Given the description of an element on the screen output the (x, y) to click on. 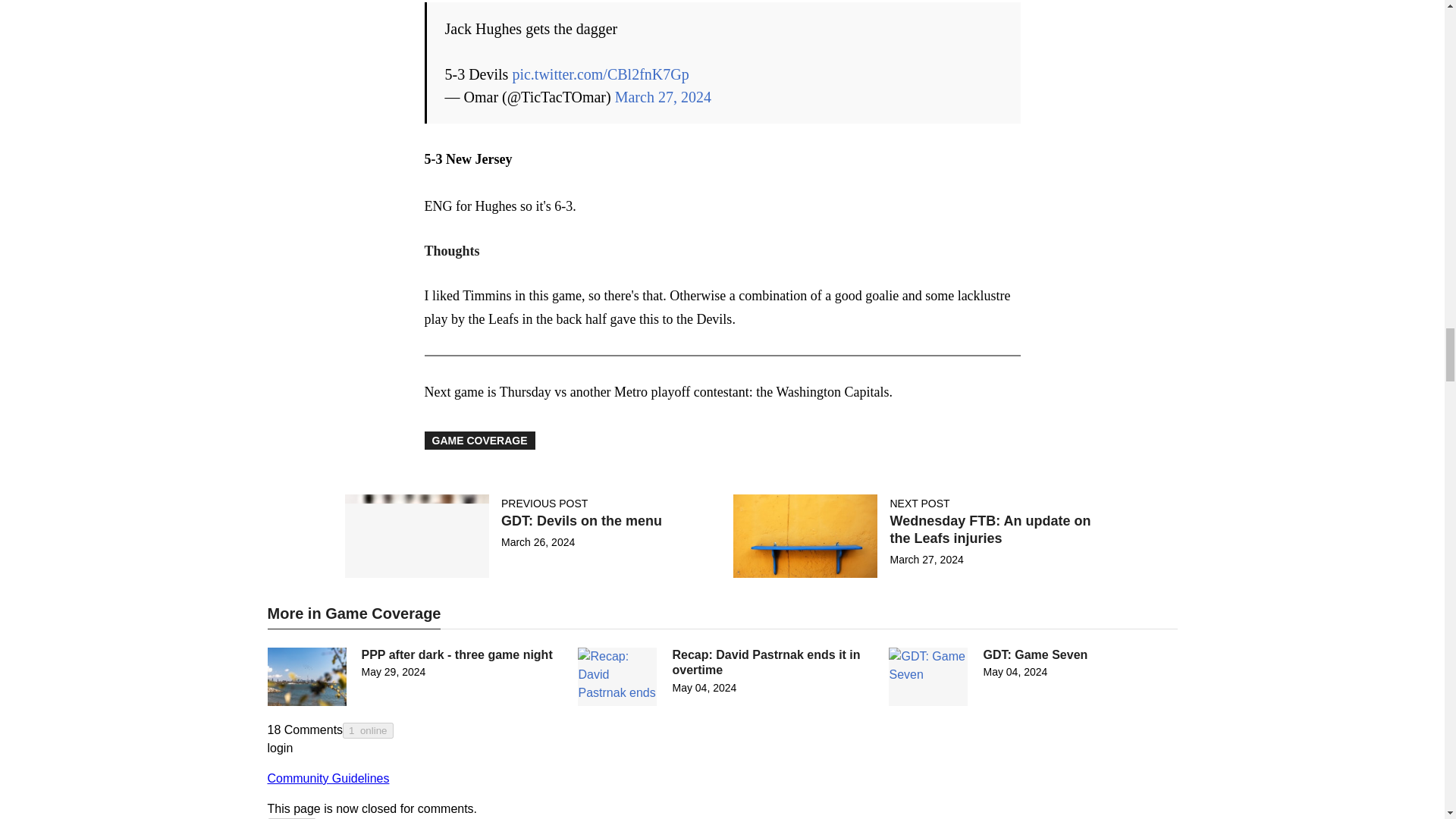
04 May, 2024 (703, 687)
29 May, 2024 (393, 671)
04 May, 2024 (1014, 671)
26 March, 2024 (537, 541)
27 March, 2024 (925, 559)
